Given the description of an element on the screen output the (x, y) to click on. 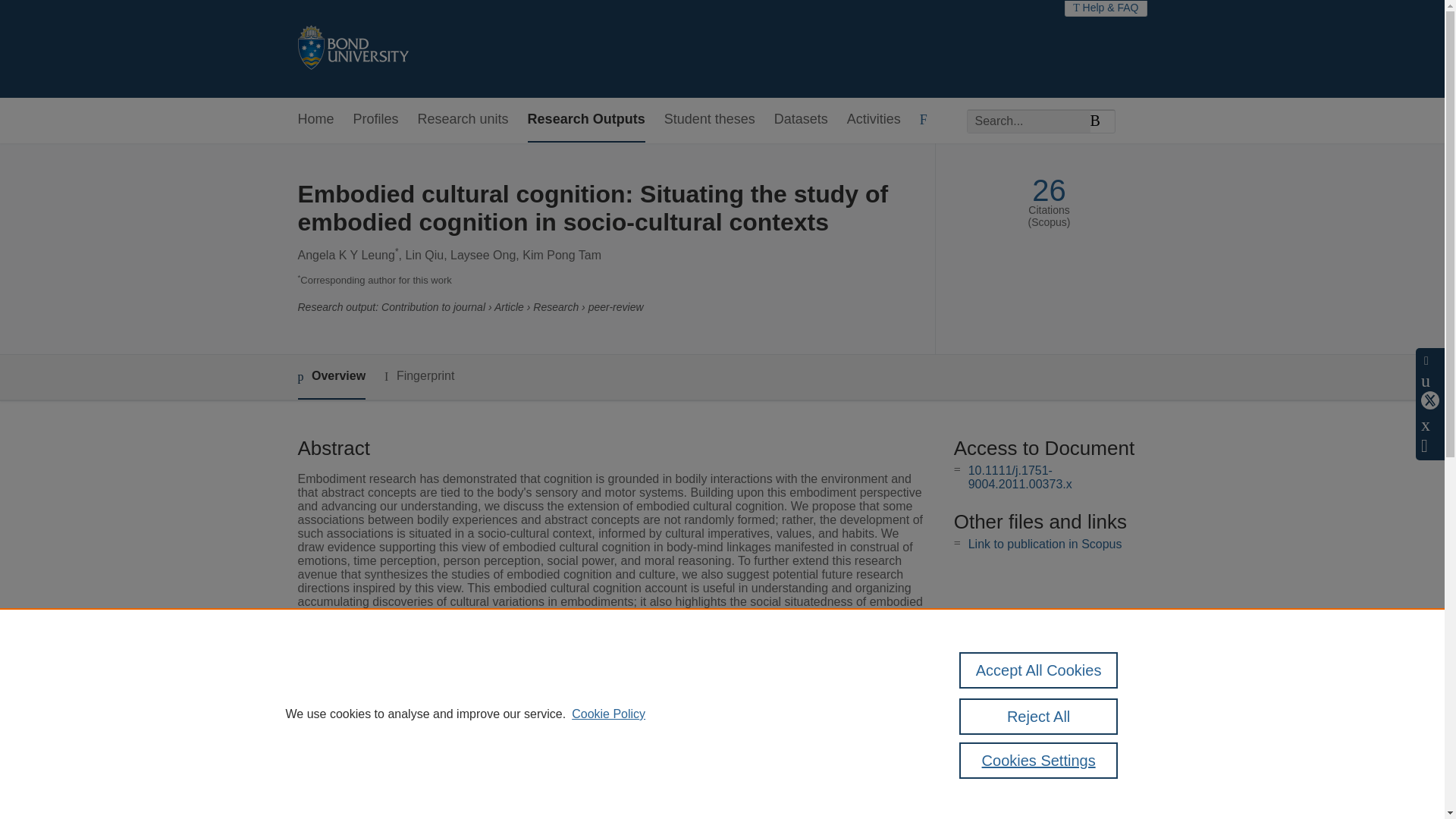
Activities (874, 119)
Datasets (801, 119)
Overview (331, 376)
Social and Personality Psychology Compass (626, 706)
Research Outputs (586, 119)
Profiles (375, 119)
Fingerprint (419, 376)
26 (1048, 190)
Bond University Research Portal Home (352, 48)
Student theses (709, 119)
Research units (462, 119)
Link to publication in Scopus (1045, 543)
